Given the description of an element on the screen output the (x, y) to click on. 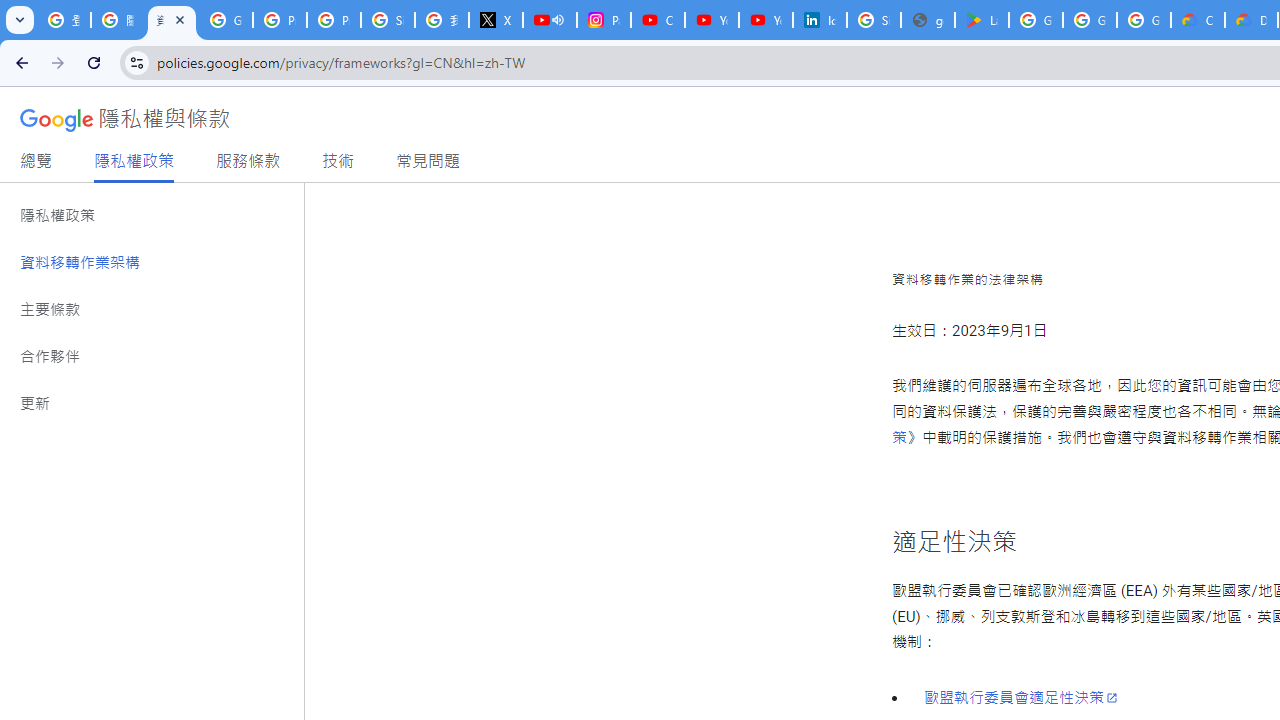
Privacy Help Center - Policies Help (333, 20)
